Given the description of an element on the screen output the (x, y) to click on. 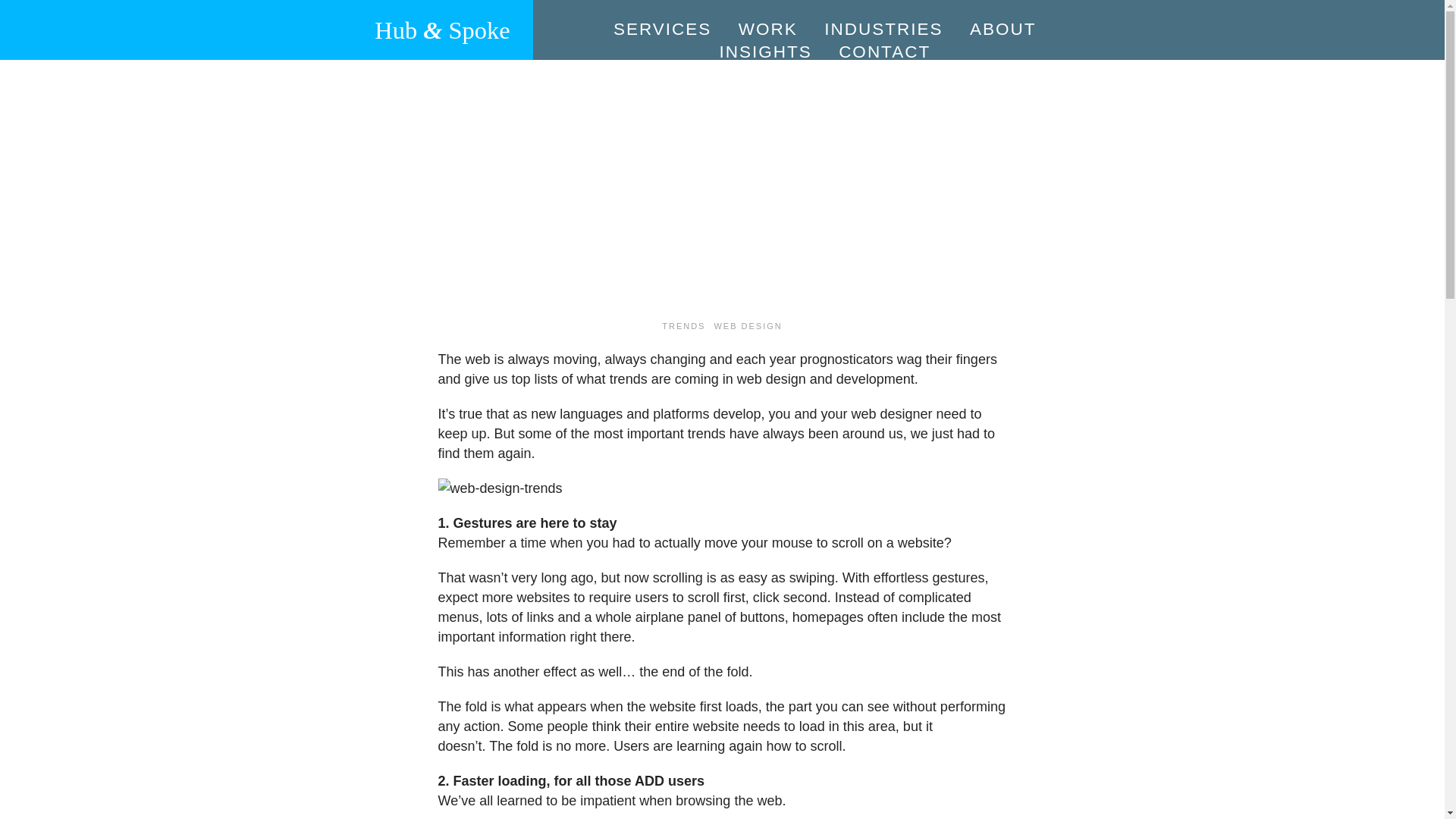
CONTACT (884, 51)
INSIGHTS (764, 51)
TRENDS (683, 325)
SERVICES (661, 28)
WEB DESIGN (747, 325)
ABOUT (1002, 28)
WORK (767, 28)
INDUSTRIES (883, 28)
